Given the description of an element on the screen output the (x, y) to click on. 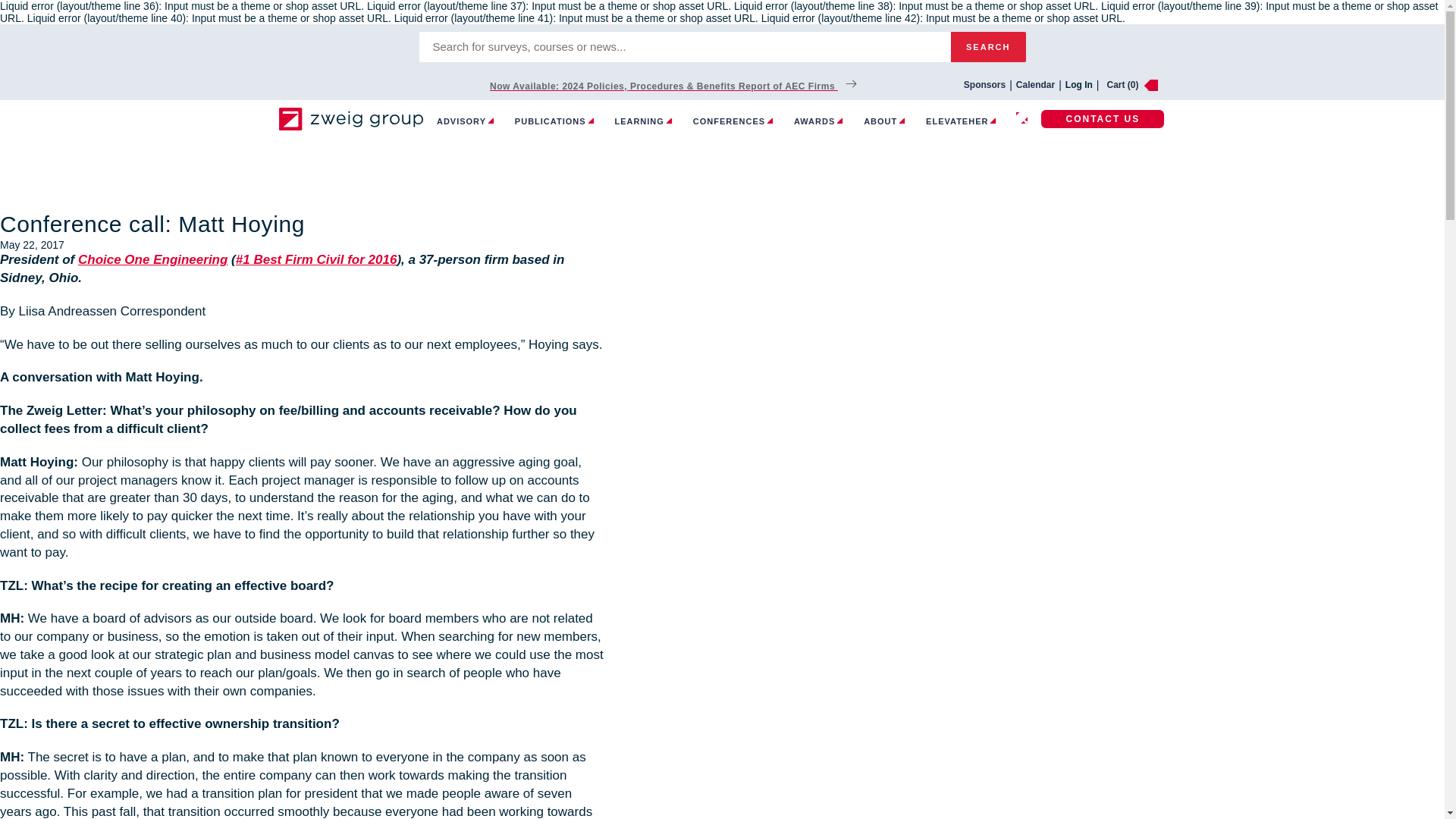
Calendar (1035, 84)
Search (988, 46)
PUBLICATIONS (553, 121)
Log In (1079, 84)
Search (988, 46)
ADVISORY (464, 121)
Sponsors (984, 84)
LEARNING (643, 121)
Search (988, 46)
